Given the description of an element on the screen output the (x, y) to click on. 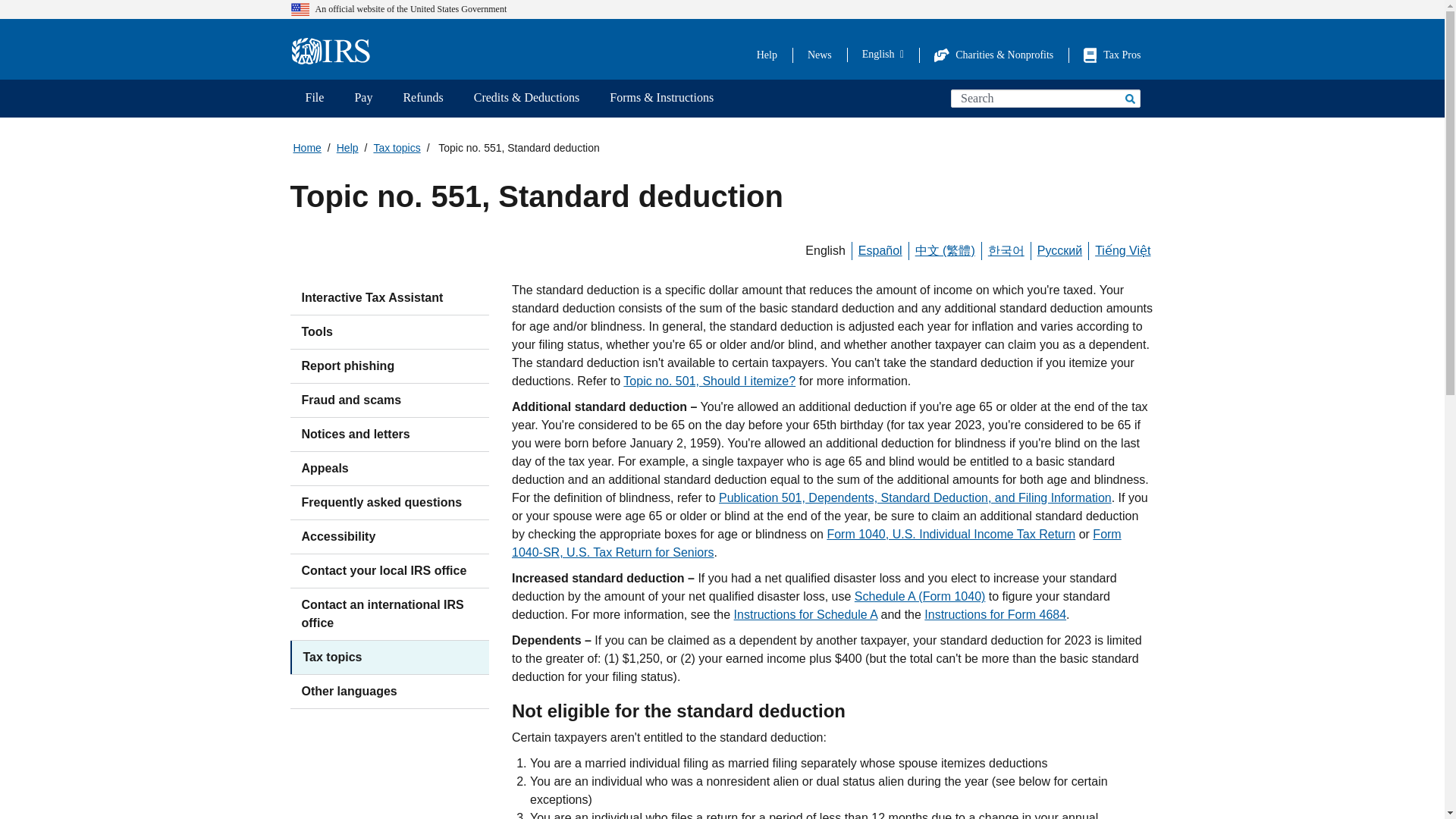
English (882, 54)
File (314, 98)
Search (1129, 98)
Home (335, 51)
Tax Pros (1111, 55)
Pay (363, 98)
